Given the description of an element on the screen output the (x, y) to click on. 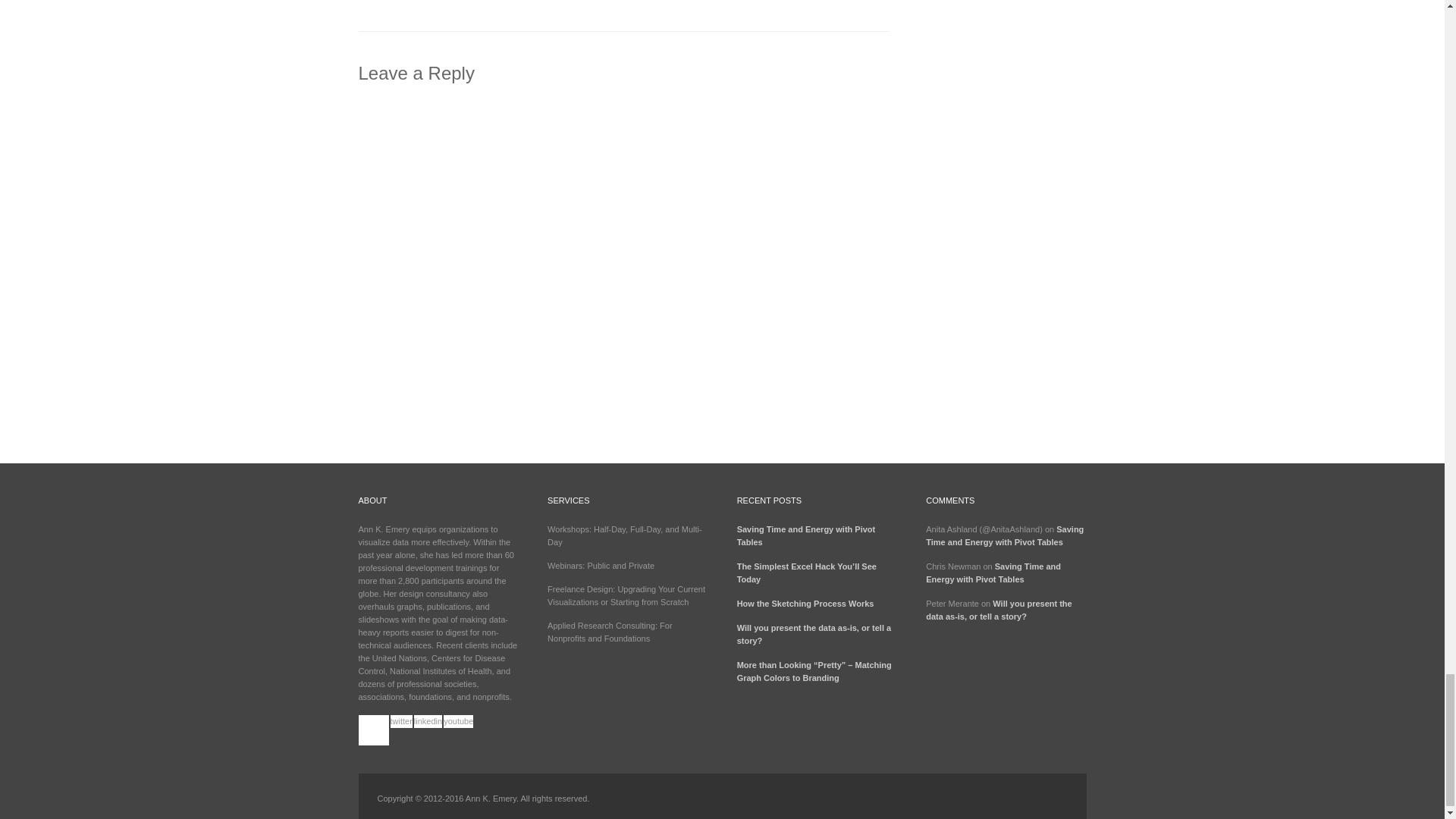
rss (373, 729)
Saving Time and Energy with Pivot Tables (806, 535)
